Given the description of an element on the screen output the (x, y) to click on. 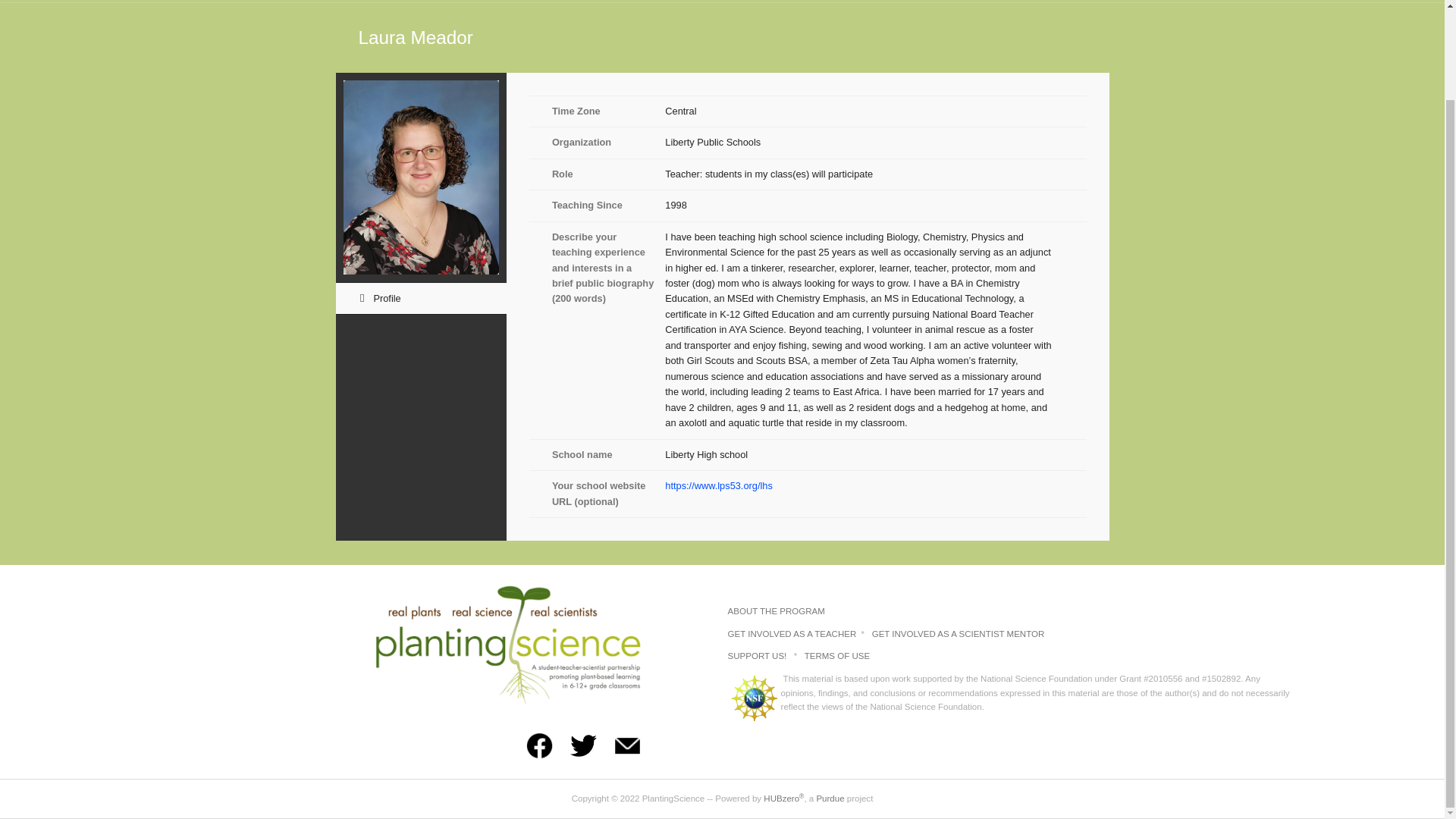
GET INVOLVED AS A TEACHER  (793, 633)
ABOUT THE PROGRAM (776, 610)
GET INVOLVED AS A SCIENTIST MENTOR (958, 633)
TERMS OF USE (837, 655)
Purdue University (829, 798)
Purdue (829, 798)
Profile (419, 298)
Laura Meador's Profile (419, 298)
SUPPORT US! (757, 655)
